Given the description of an element on the screen output the (x, y) to click on. 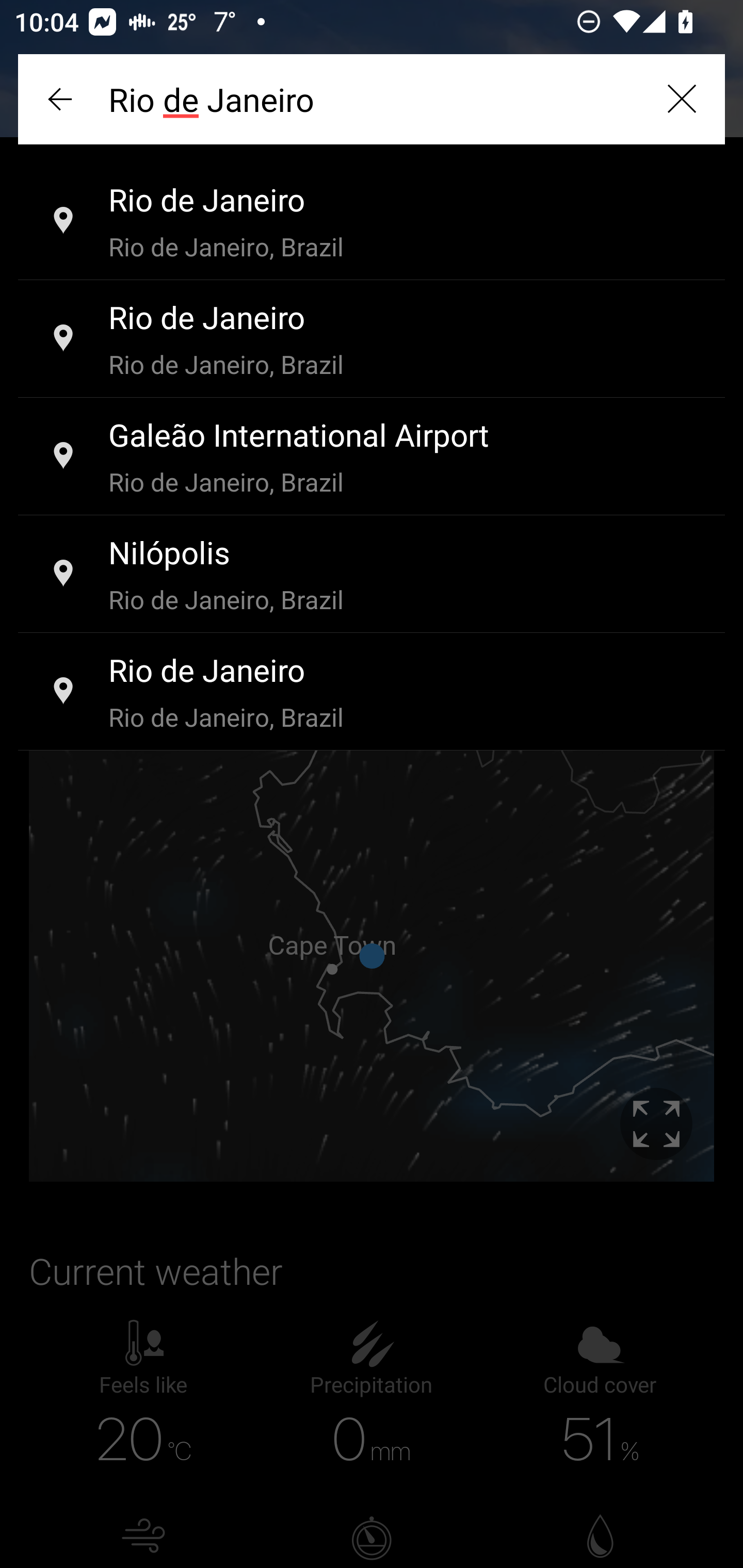
Rio de Janeiro (371, 99)
 (681, 99)
 (61, 99)
 Rio de Janeiro Rio de Janeiro, Brazil (371, 221)
 Rio de Janeiro Rio de Janeiro, Brazil (371, 339)
 Nilópolis Rio de Janeiro, Brazil (371, 574)
 Rio de Janeiro Rio de Janeiro, Brazil (371, 692)
